Given the description of an element on the screen output the (x, y) to click on. 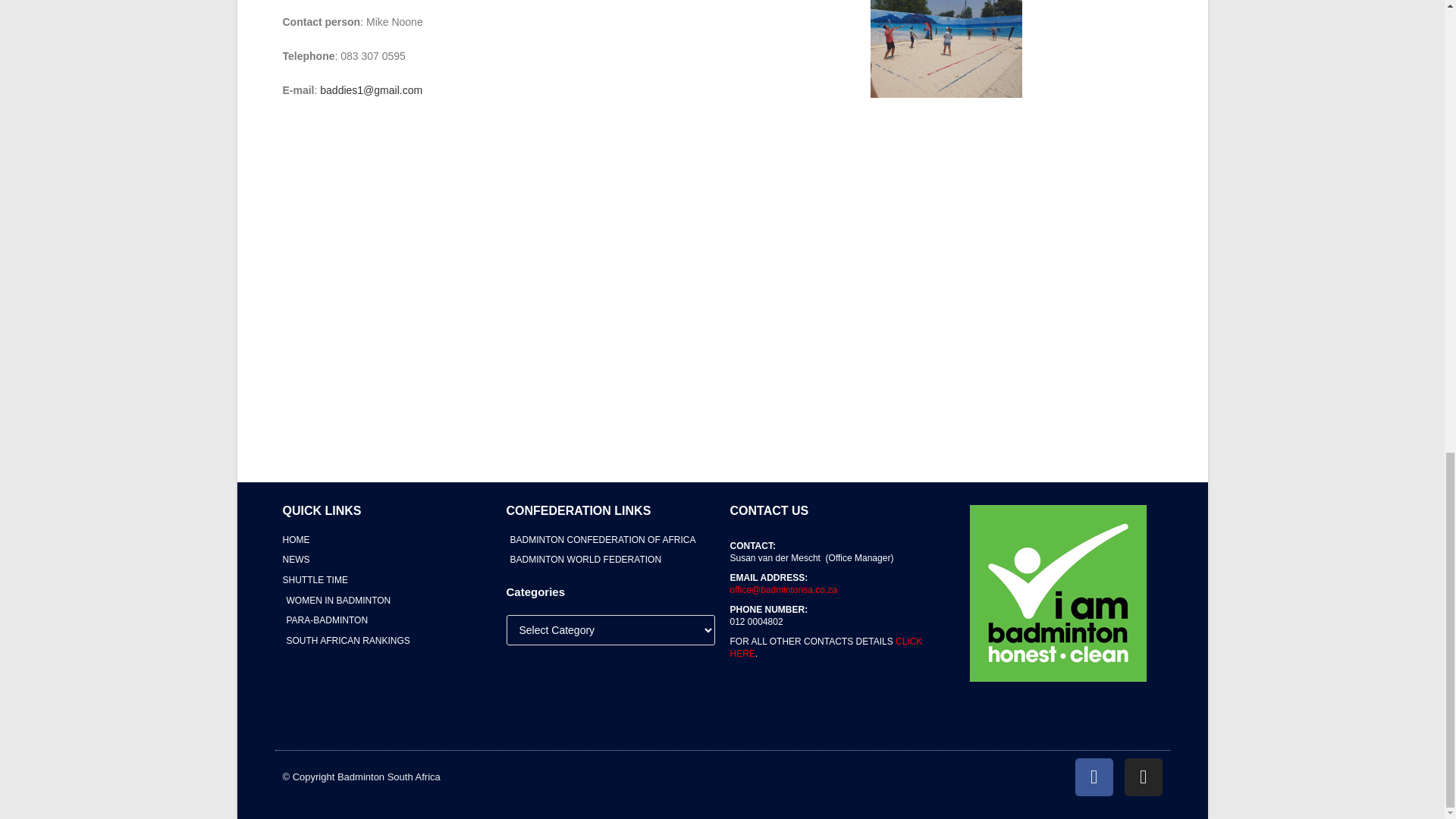
word-image (946, 48)
